Given the description of an element on the screen output the (x, y) to click on. 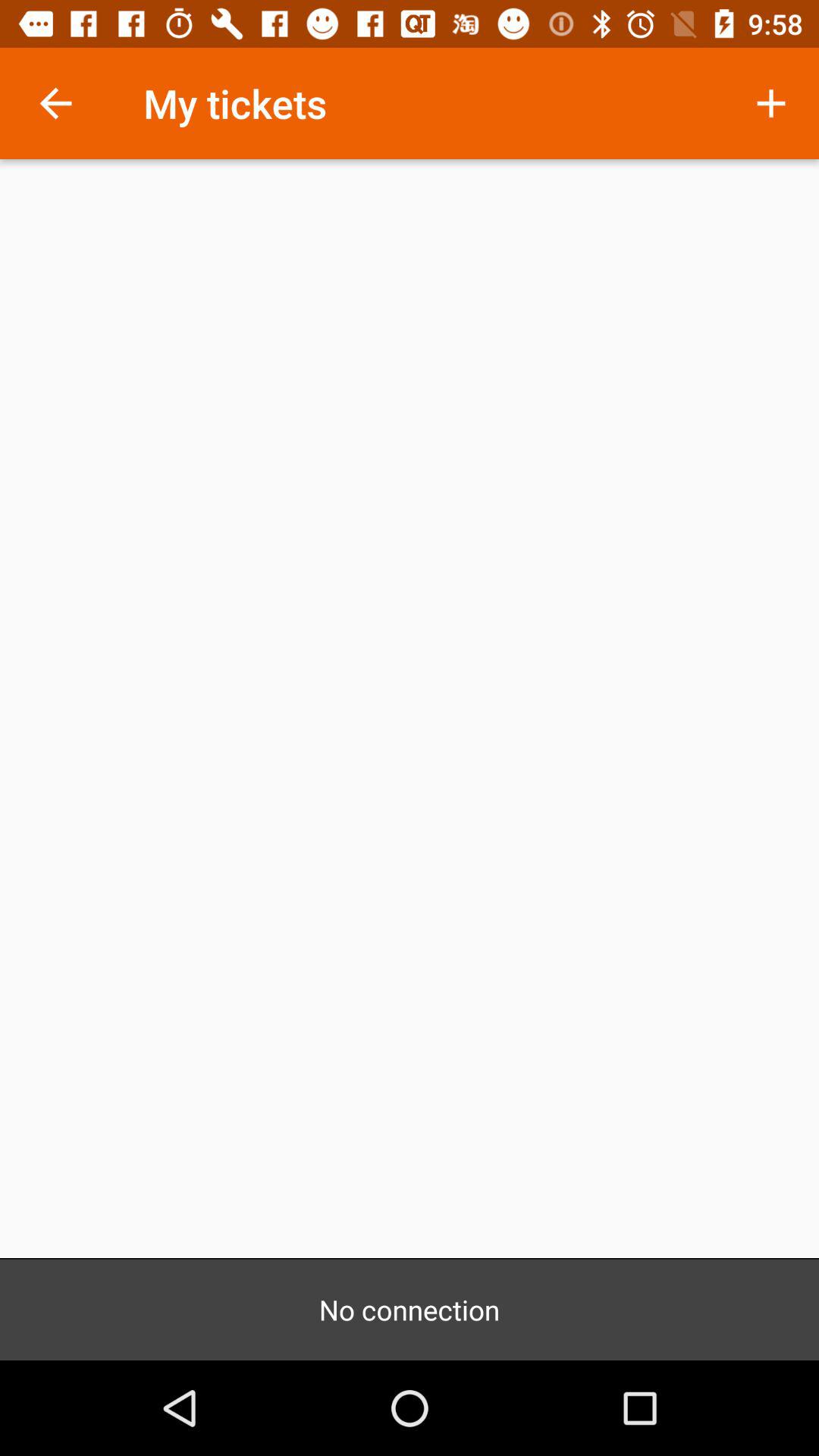
select the icon to the left of my tickets (55, 103)
